Given the description of an element on the screen output the (x, y) to click on. 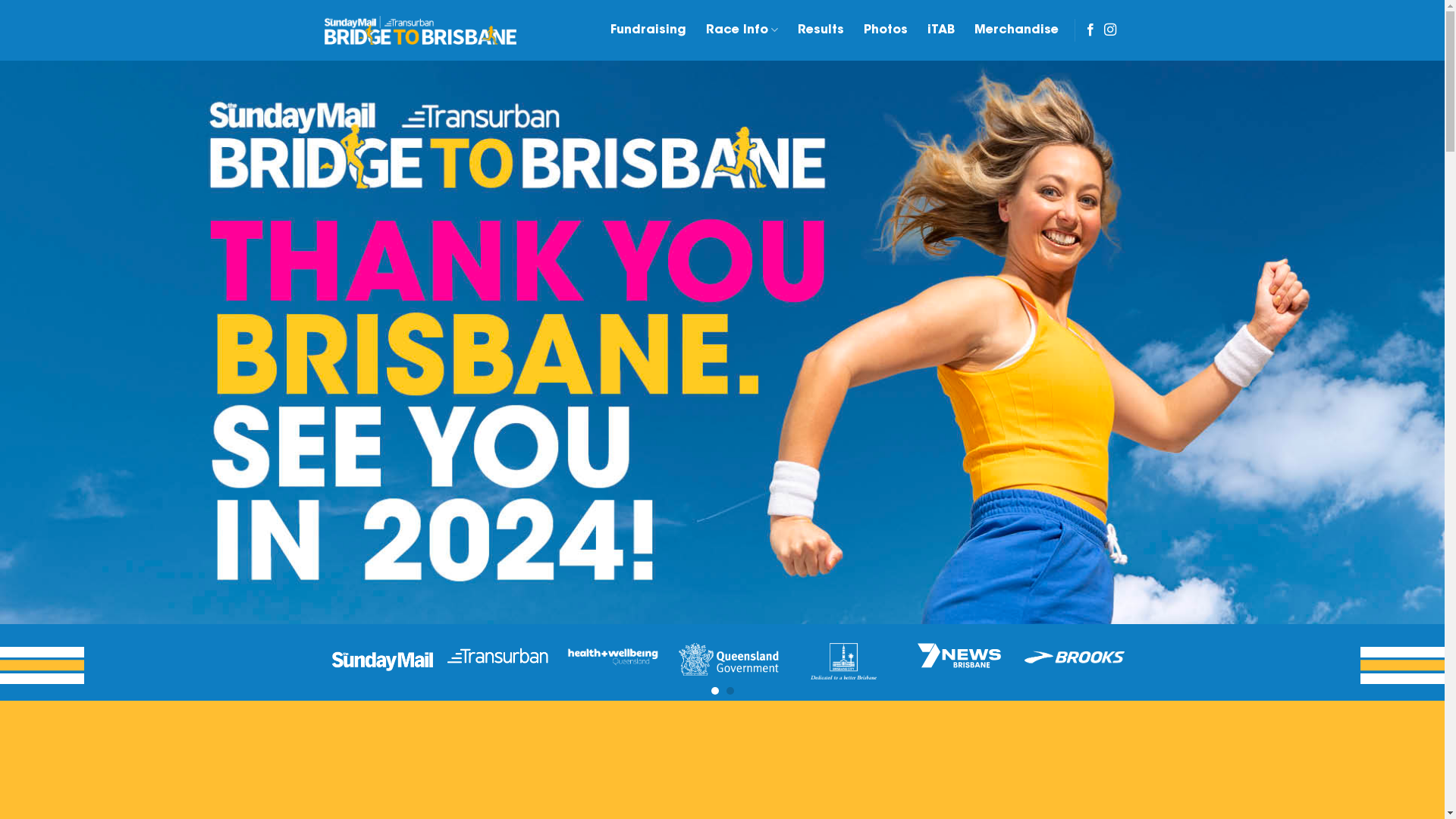
Skip to content Element type: text (0, 0)
Merchandise Element type: text (1016, 29)
Follow on Facebook Element type: hover (1090, 30)
Results Element type: text (820, 29)
Fundraising Element type: text (648, 29)
Follow on Instagram Element type: hover (1110, 30)
iTAB Element type: text (940, 29)
Bridge To Brisbane - SUNDAY, AUGUST 28, 2022 Element type: hover (420, 30)
Race Info Element type: text (742, 29)
Photos Element type: text (885, 29)
